Given the description of an element on the screen output the (x, y) to click on. 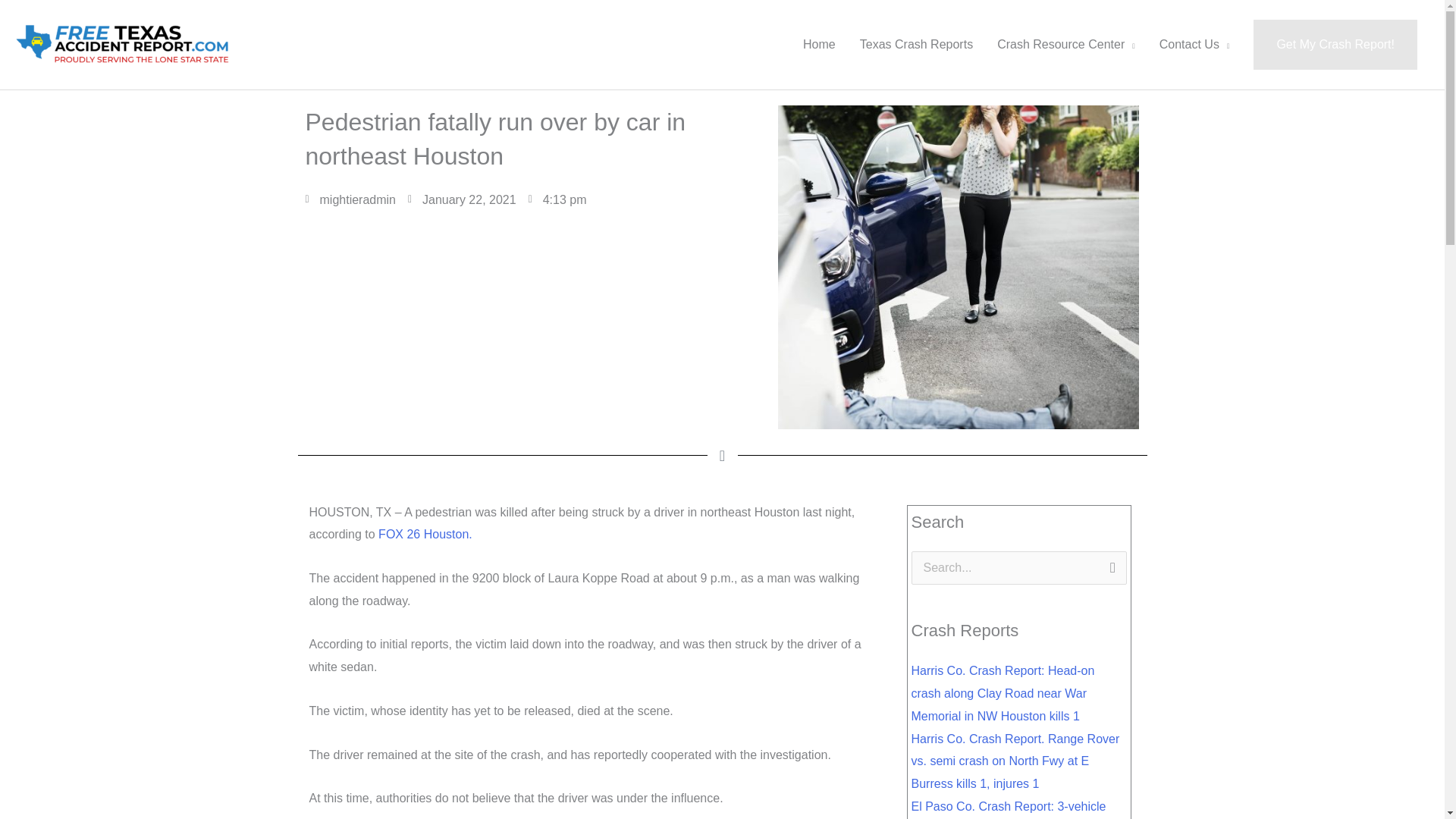
FOX 26 Houston. (424, 533)
Get My Crash Report! (1334, 44)
Person lying on the ground after a car accident (957, 267)
Home (818, 44)
Crash Resource Center (1066, 44)
Texas Crash Reports (916, 44)
Contact Us (1194, 44)
